Given the description of an element on the screen output the (x, y) to click on. 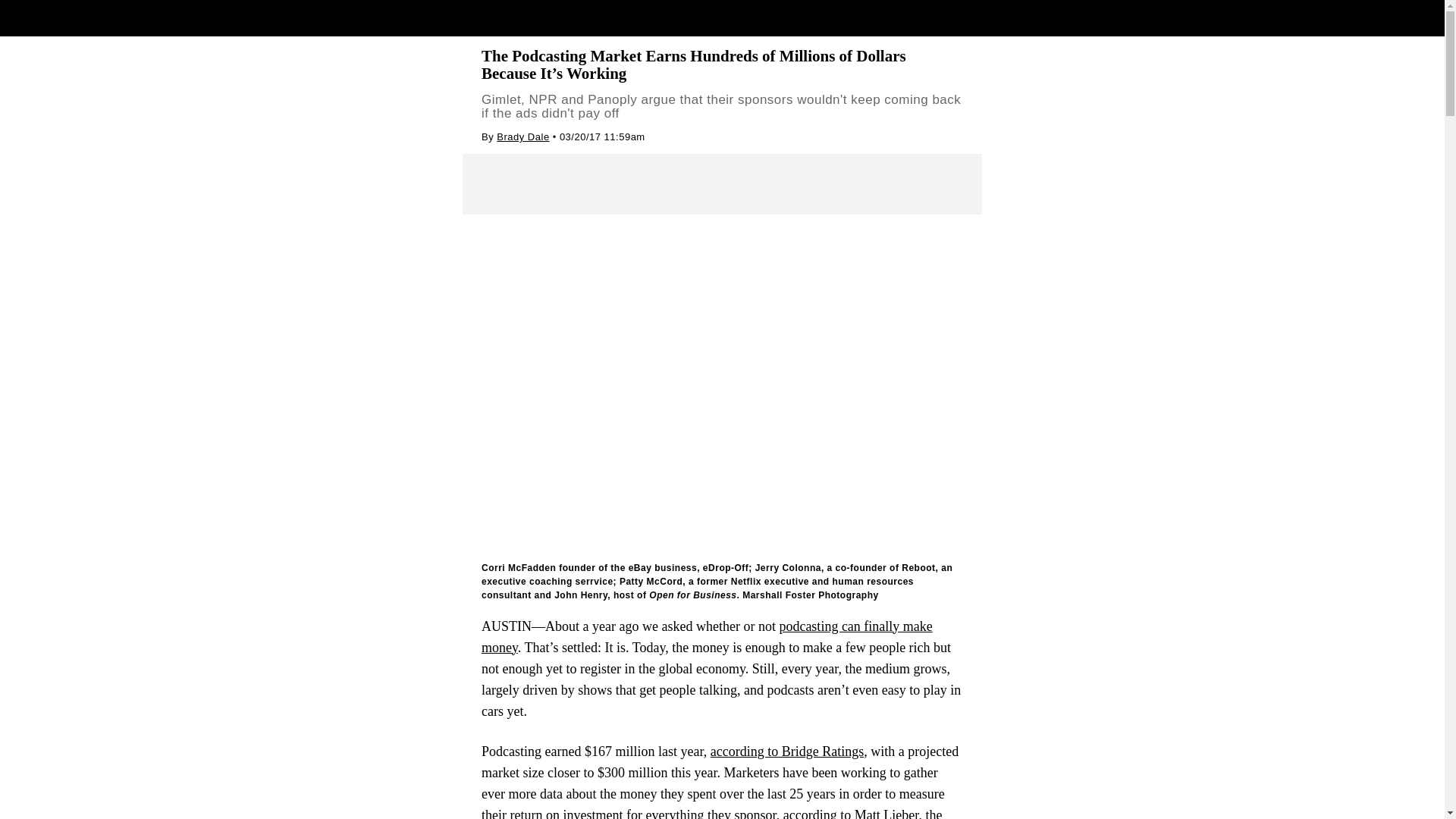
podcasting can finally make money (707, 637)
according to Bridge Ratings (786, 751)
Brady Dale (522, 136)
Matt Lieber, the Gimlet Media co-founder (711, 813)
View All Posts by Brady Dale (522, 136)
